Given the description of an element on the screen output the (x, y) to click on. 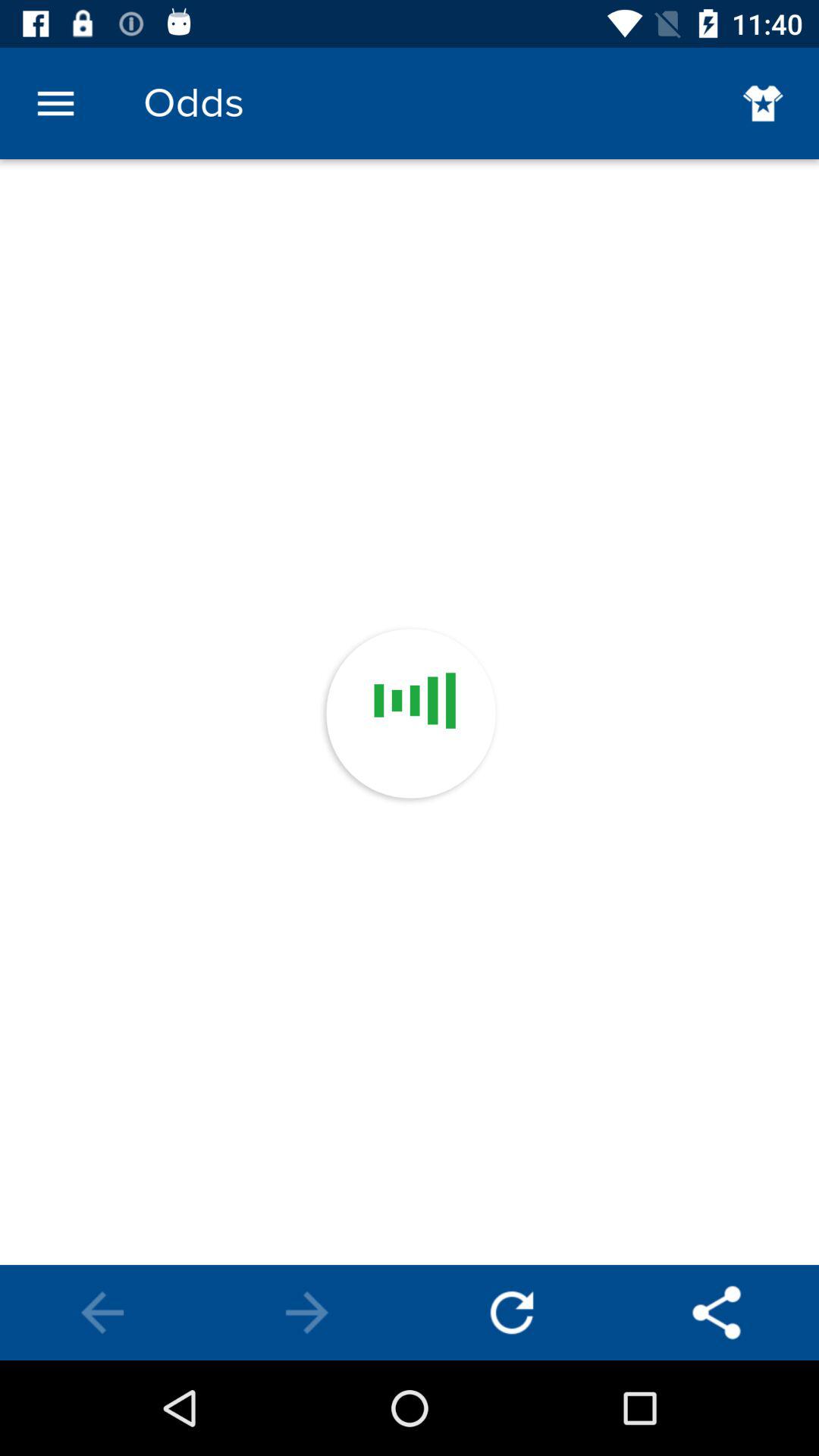
go back (102, 1312)
